Given the description of an element on the screen output the (x, y) to click on. 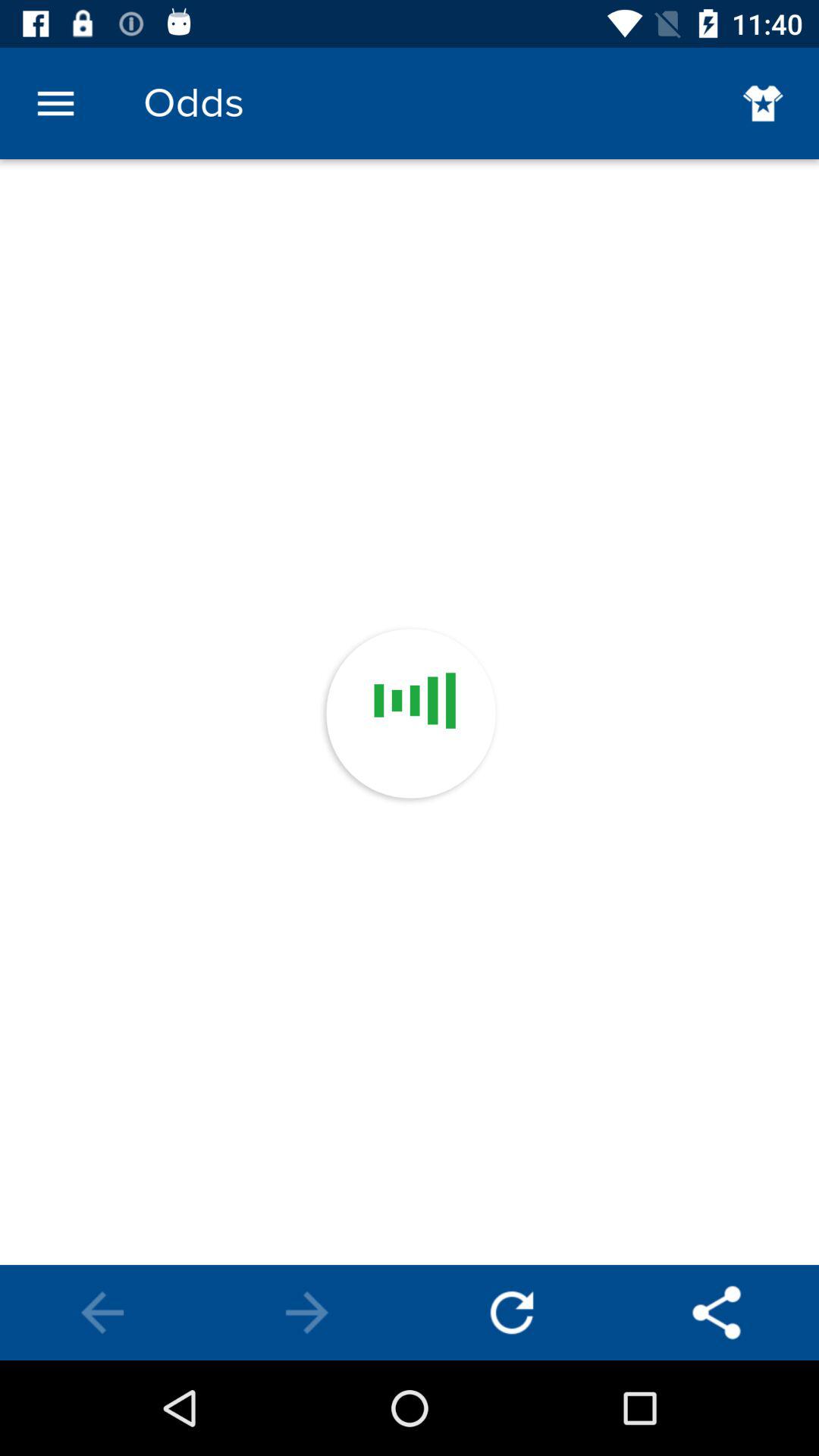
go back (102, 1312)
